Given the description of an element on the screen output the (x, y) to click on. 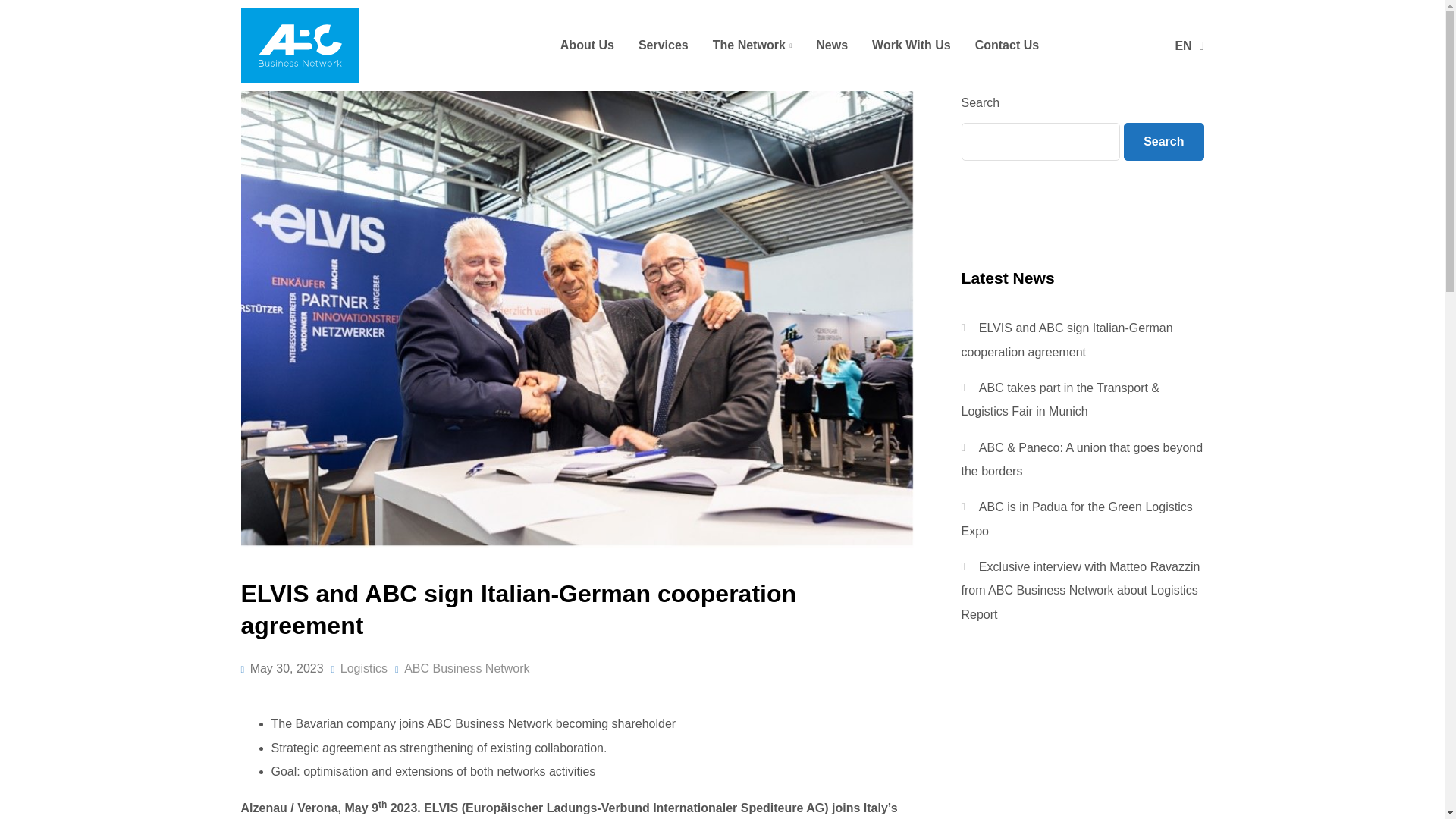
The Network (752, 44)
About Us (587, 44)
Services (663, 44)
